Given the description of an element on the screen output the (x, y) to click on. 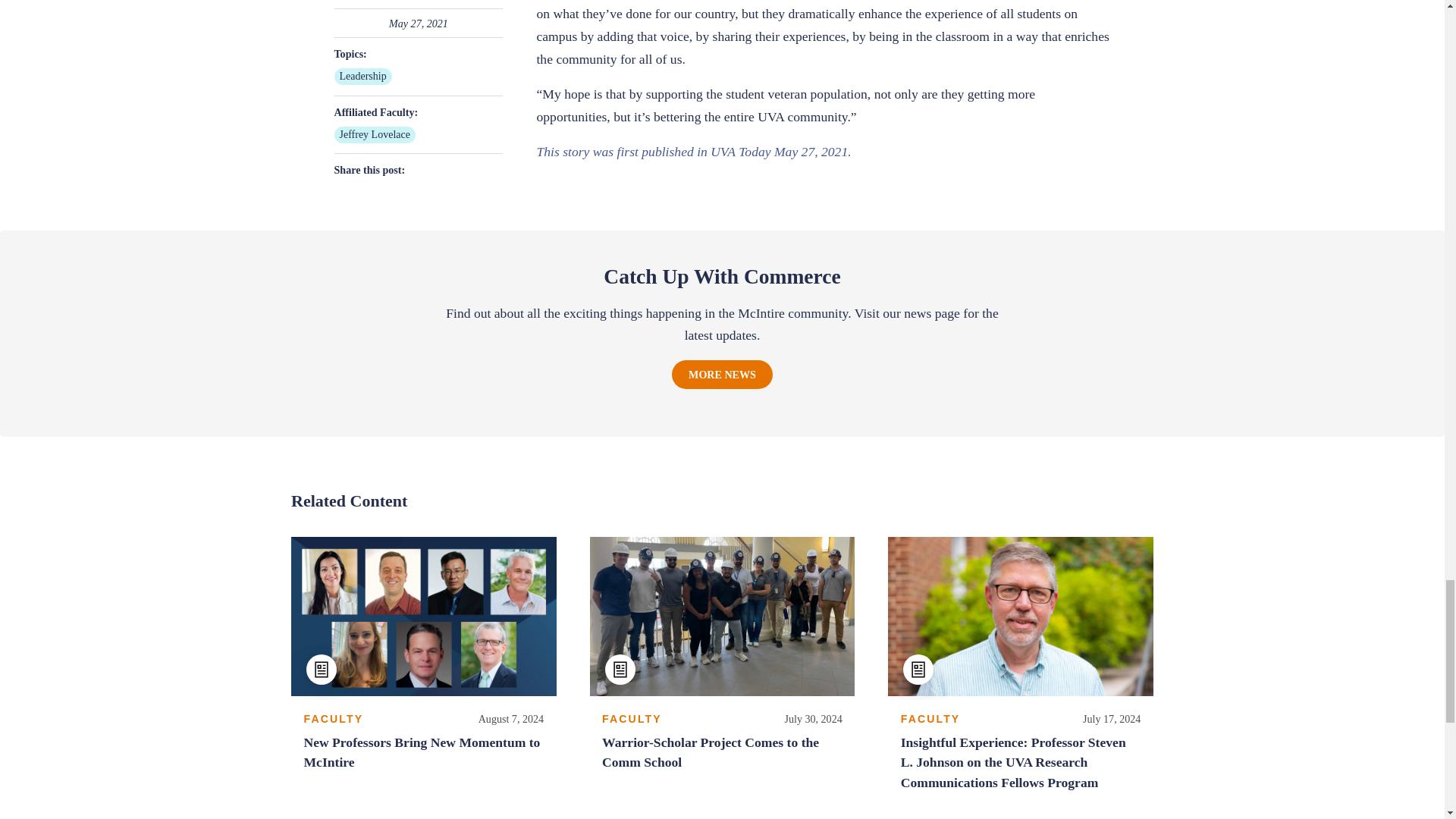
MORE NEWS (722, 374)
This story was first published in UVA Today May 27, 2021. (692, 151)
